Given the description of an element on the screen output the (x, y) to click on. 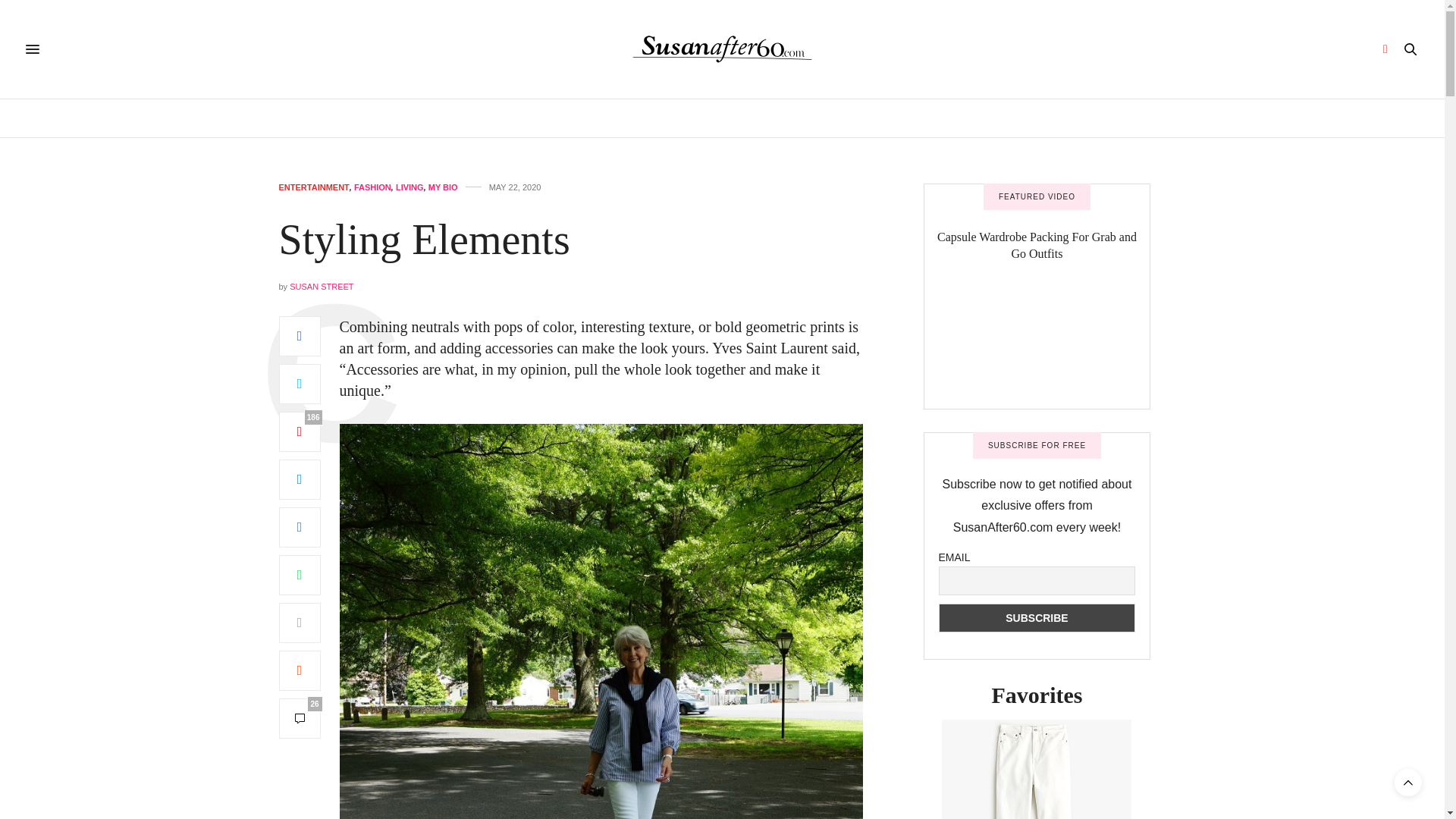
CONTACT (1018, 118)
BIOGRAPHY (472, 118)
OUTFITS (951, 118)
SUSAN STREET (321, 286)
ENTERTAINMENT (747, 118)
Subscribe (1037, 617)
LIVING (409, 187)
186 (299, 431)
MY BIO (443, 187)
HEALTH (544, 118)
